Given the description of an element on the screen output the (x, y) to click on. 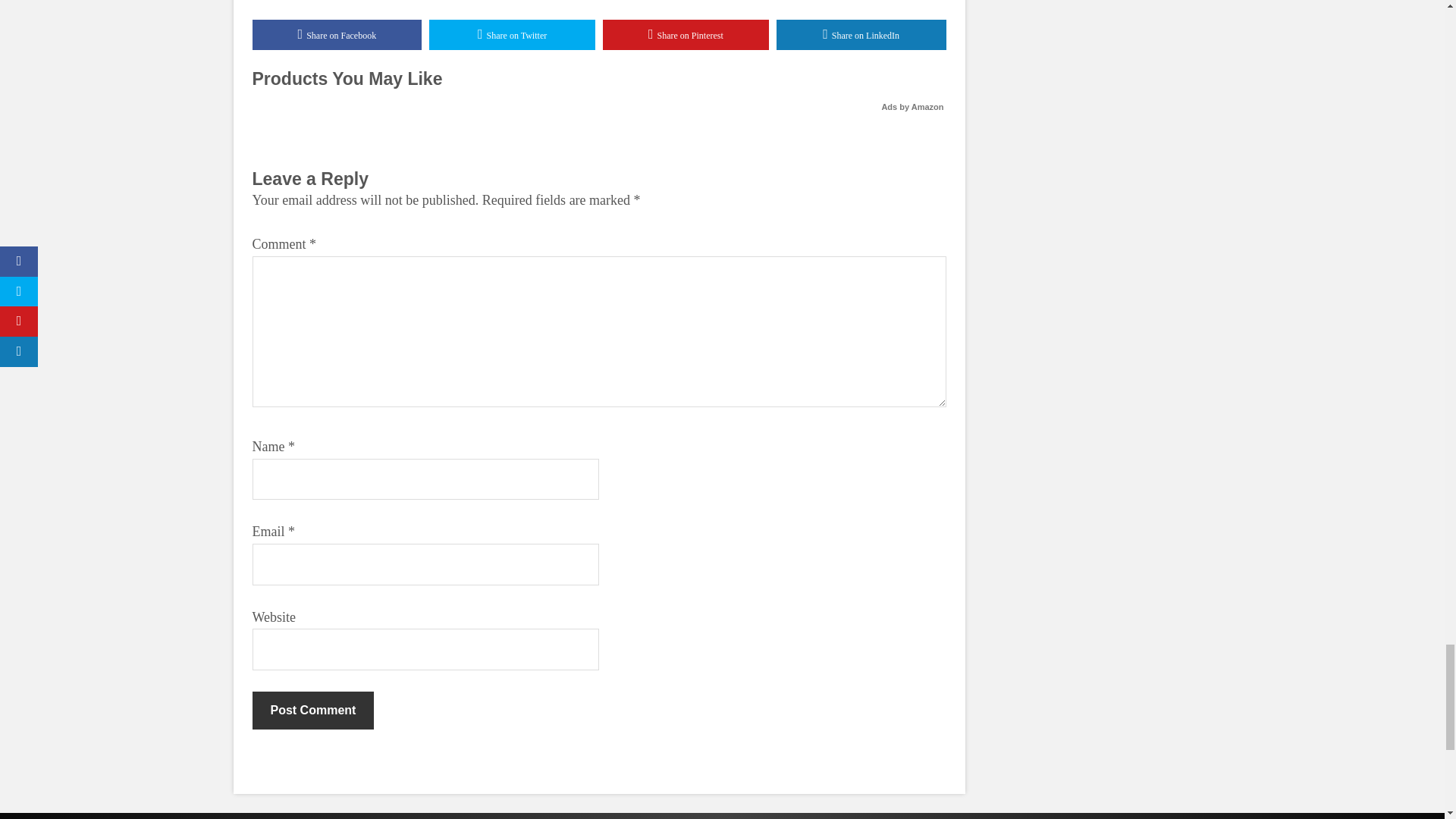
Post Comment (312, 710)
